Given the description of an element on the screen output the (x, y) to click on. 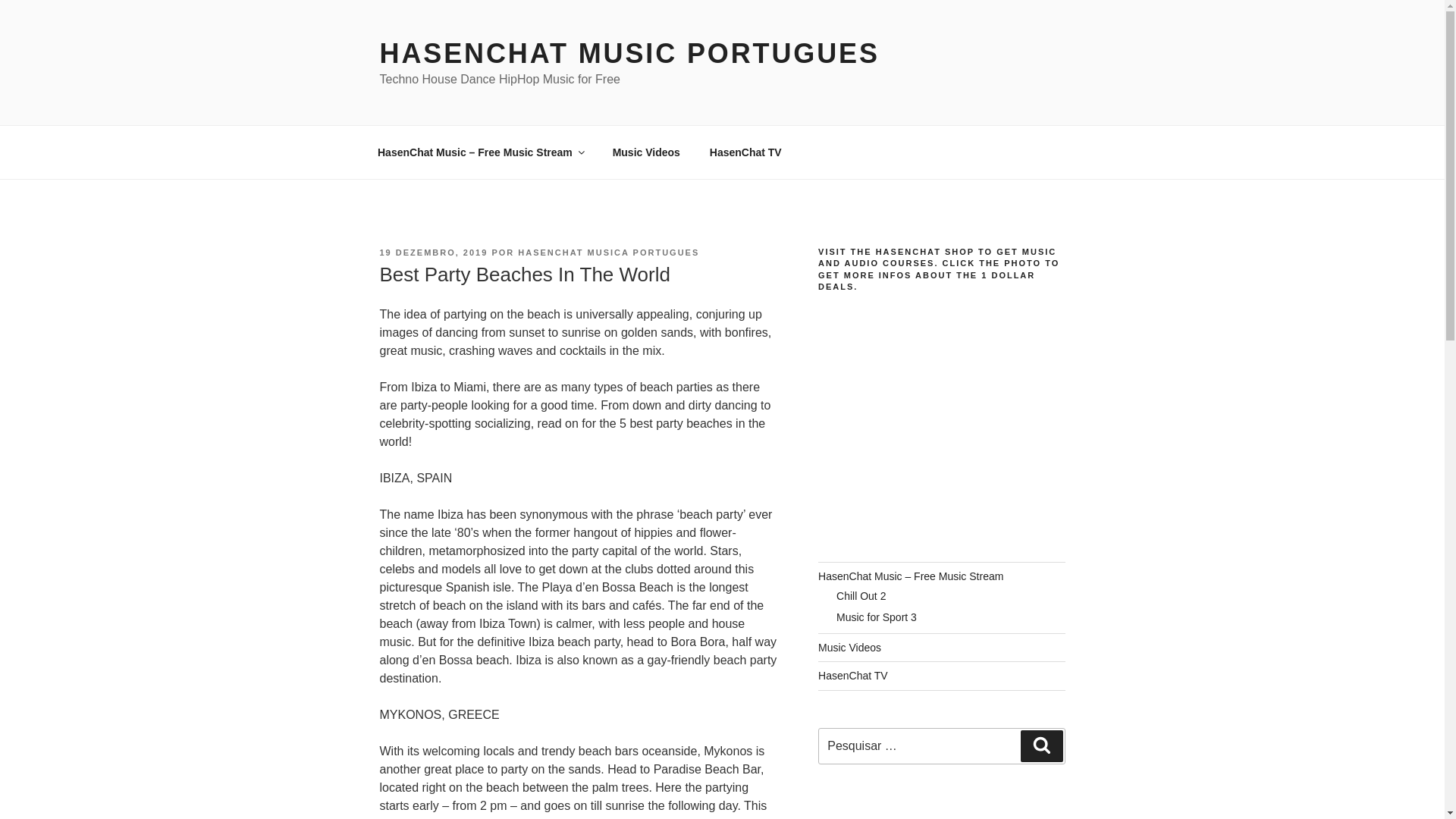
Music for Sport 3 (876, 616)
HASENCHAT MUSIC PORTUGUES (628, 52)
HasenChat TV (744, 151)
Pesquisar (1041, 746)
19 DEZEMBRO, 2019 (432, 252)
Chill Out 2 (860, 595)
HASENCHAT MUSICA PORTUGUES (608, 252)
Music Videos (645, 151)
Music Videos (849, 647)
HasenChat TV (853, 675)
